Given the description of an element on the screen output the (x, y) to click on. 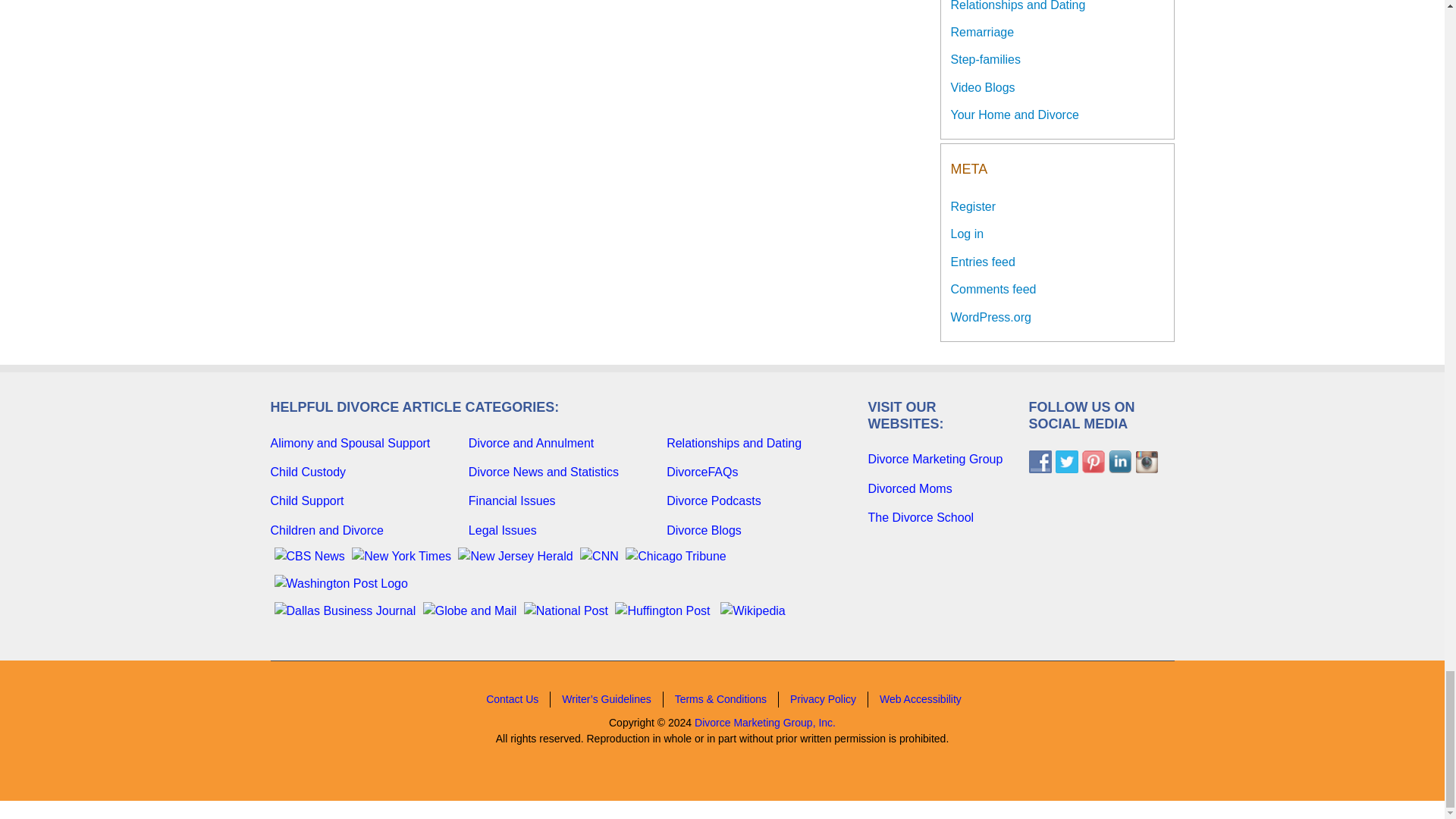
Facebook (1039, 461)
Instagram (1145, 461)
Twitter (1066, 461)
LinkedIn (1119, 461)
Pinterest (1092, 461)
